Given the description of an element on the screen output the (x, y) to click on. 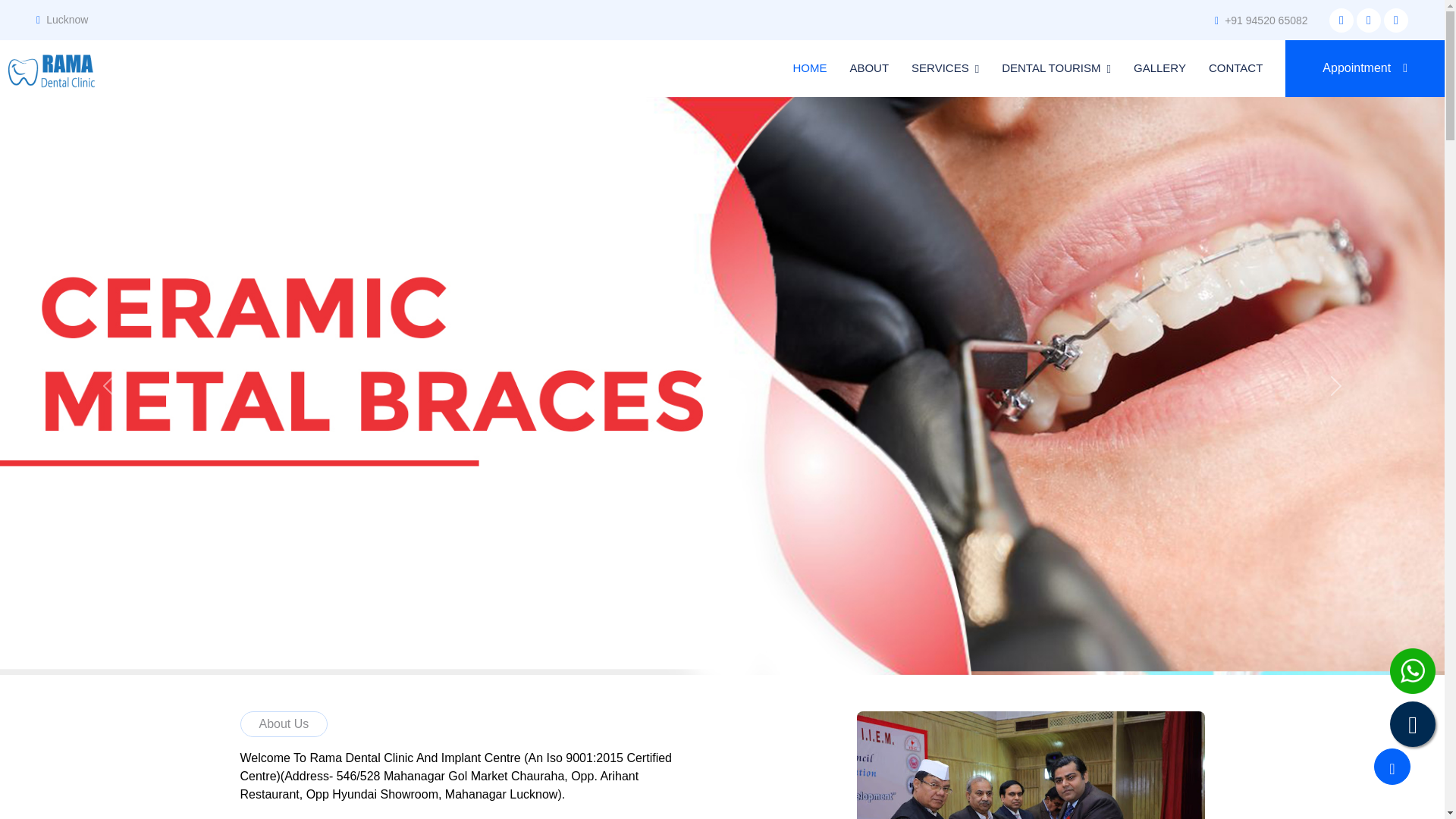
SERVICES (944, 68)
GALLERY (1160, 68)
CONTACT (1235, 68)
DENTAL TOURISM (1055, 68)
